Given the description of an element on the screen output the (x, y) to click on. 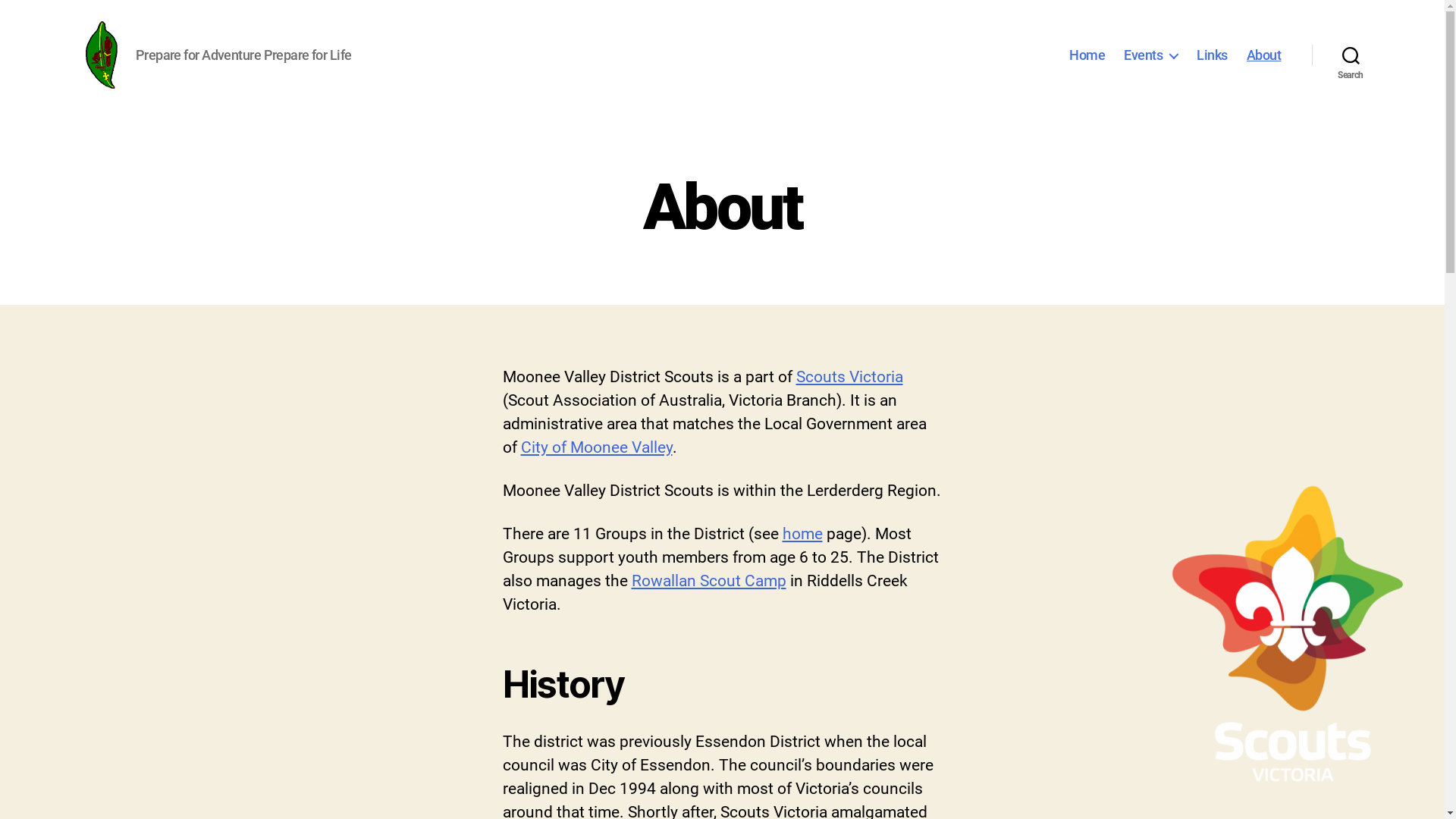
Rowallan Scout Camp Element type: text (707, 580)
About Element type: text (1263, 55)
Home Element type: text (1086, 55)
Search Element type: text (1350, 55)
home Element type: text (802, 533)
City of Moonee Valley Element type: text (595, 447)
Scouts Victoria Element type: text (849, 376)
Links Element type: text (1211, 55)
Events Element type: text (1150, 55)
